Given the description of an element on the screen output the (x, y) to click on. 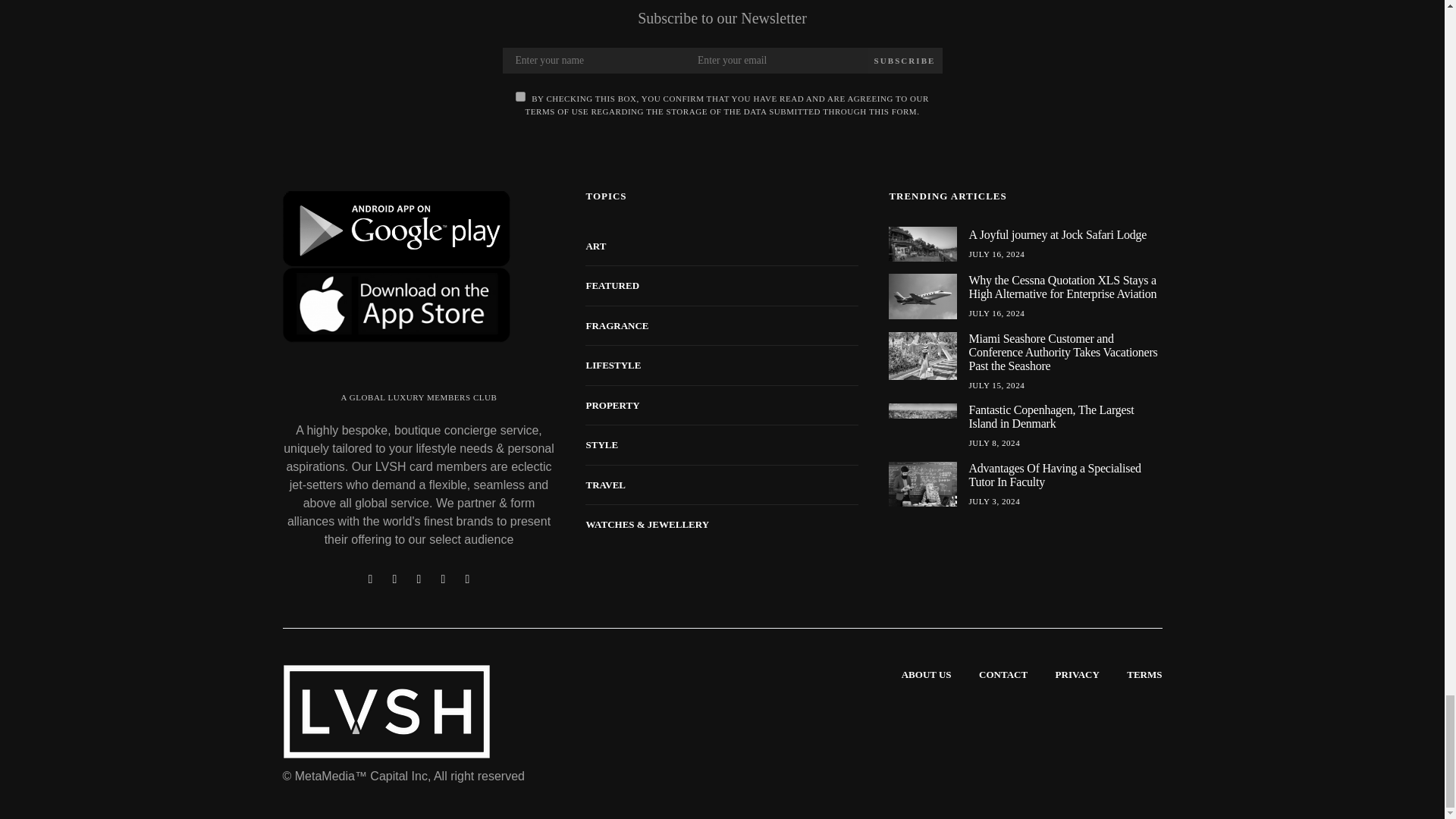
on (520, 96)
